Given the description of an element on the screen output the (x, y) to click on. 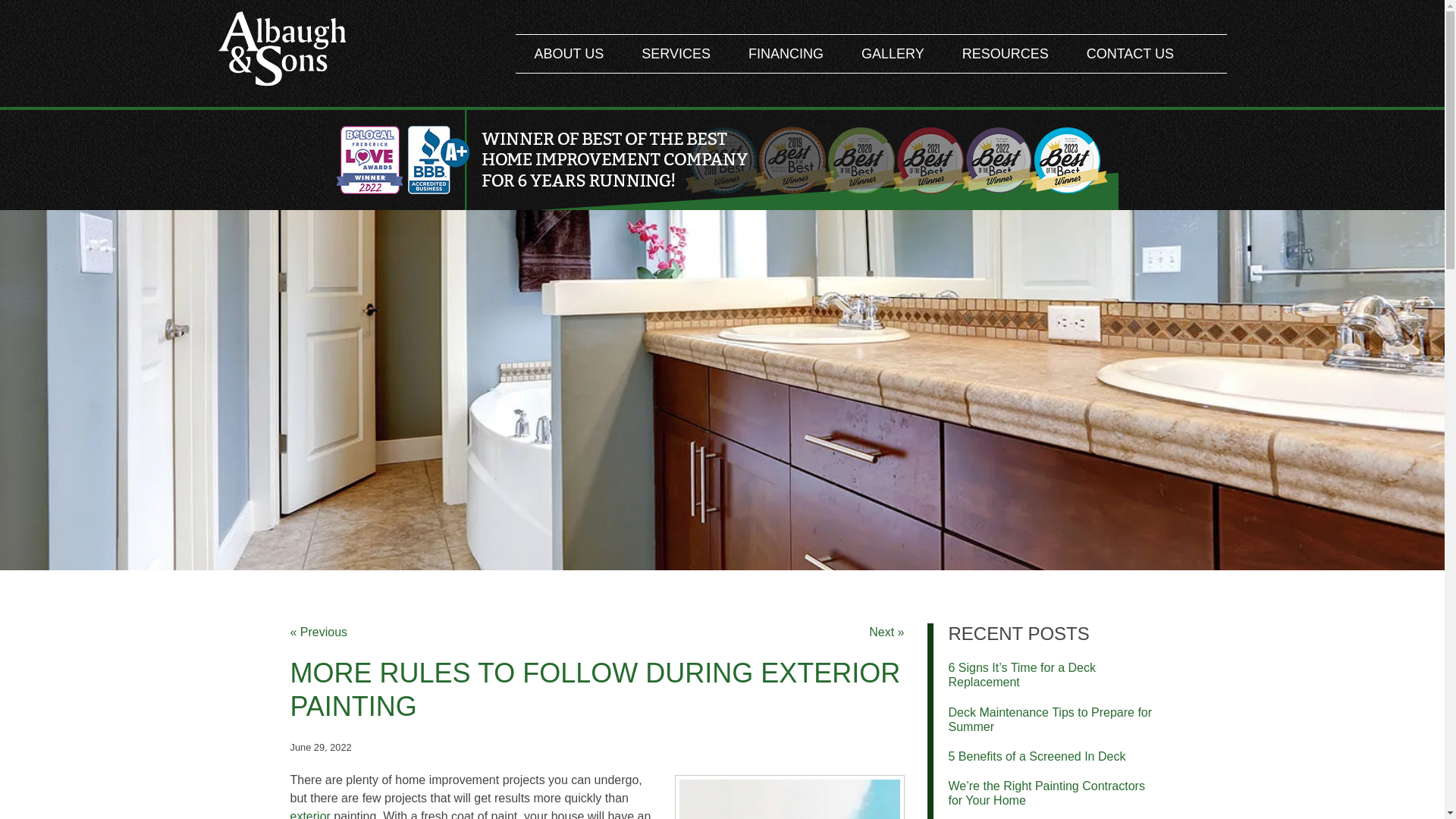
ABOUT US (569, 53)
SERVICES (676, 53)
